Given the description of an element on the screen output the (x, y) to click on. 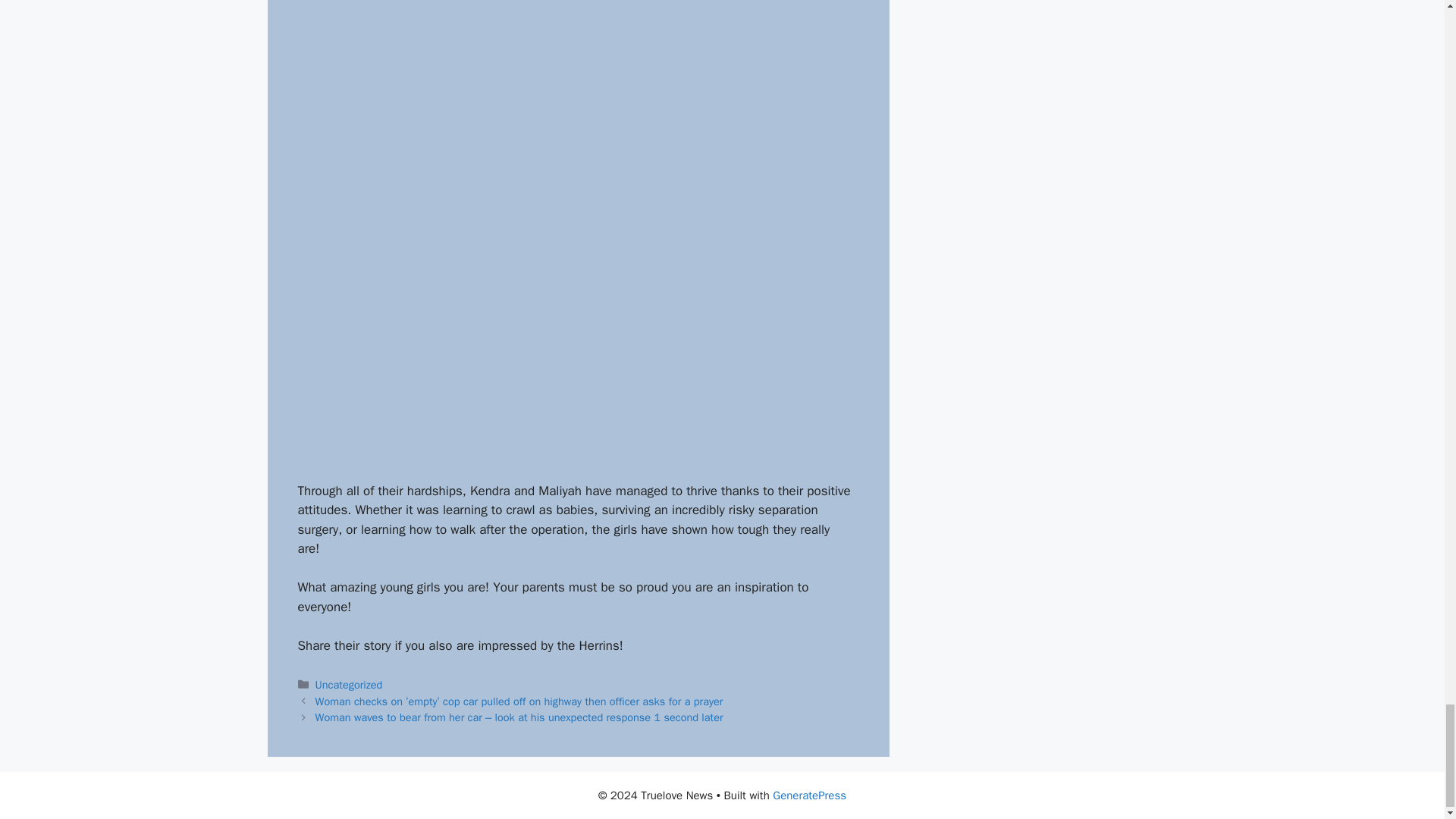
Uncategorized (348, 684)
